Given the description of an element on the screen output the (x, y) to click on. 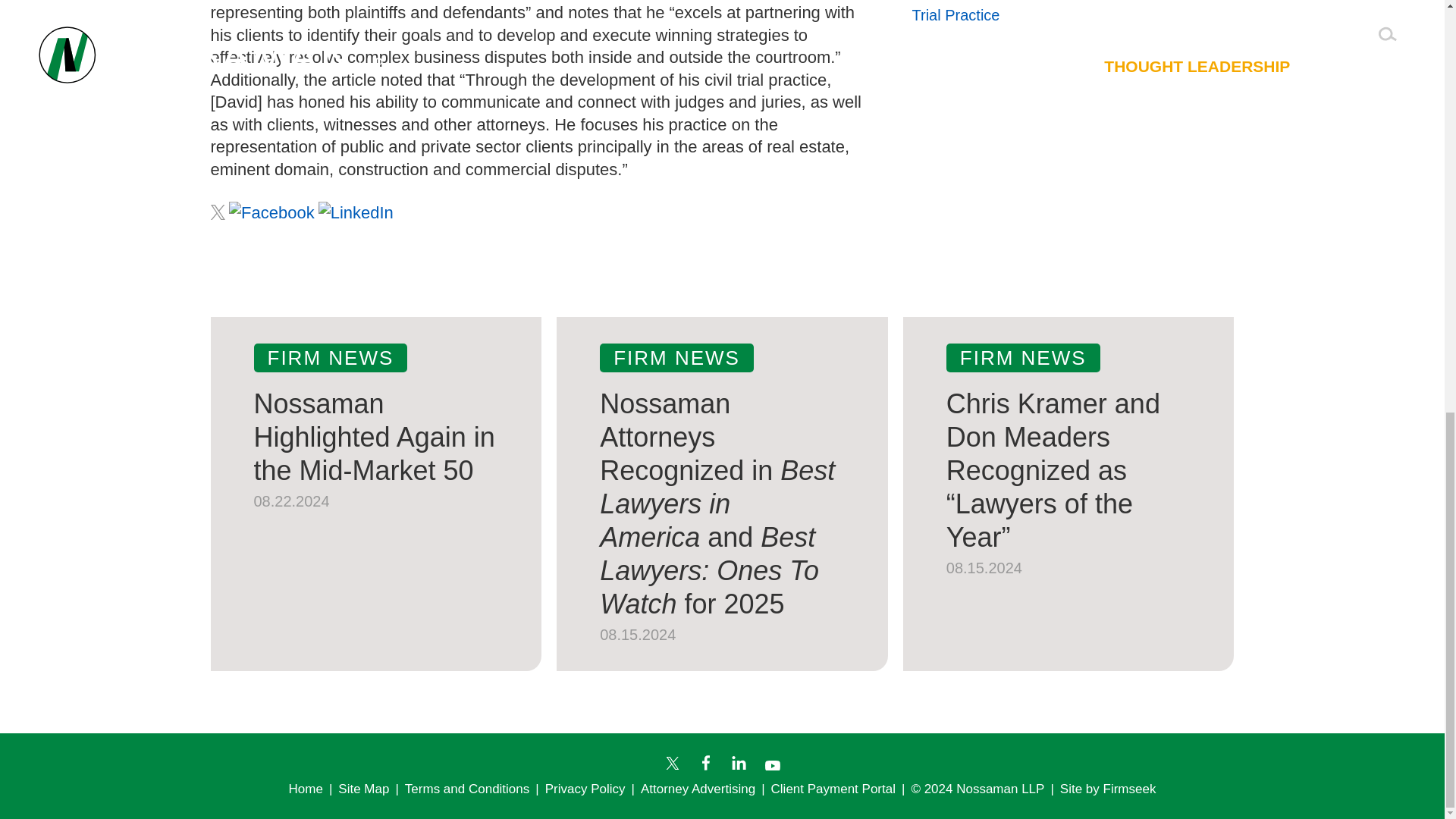
Share on LinkedIn (355, 211)
Share on Facebook (271, 211)
Share on Twitter (218, 212)
Trial Practice (954, 14)
